Given the description of an element on the screen output the (x, y) to click on. 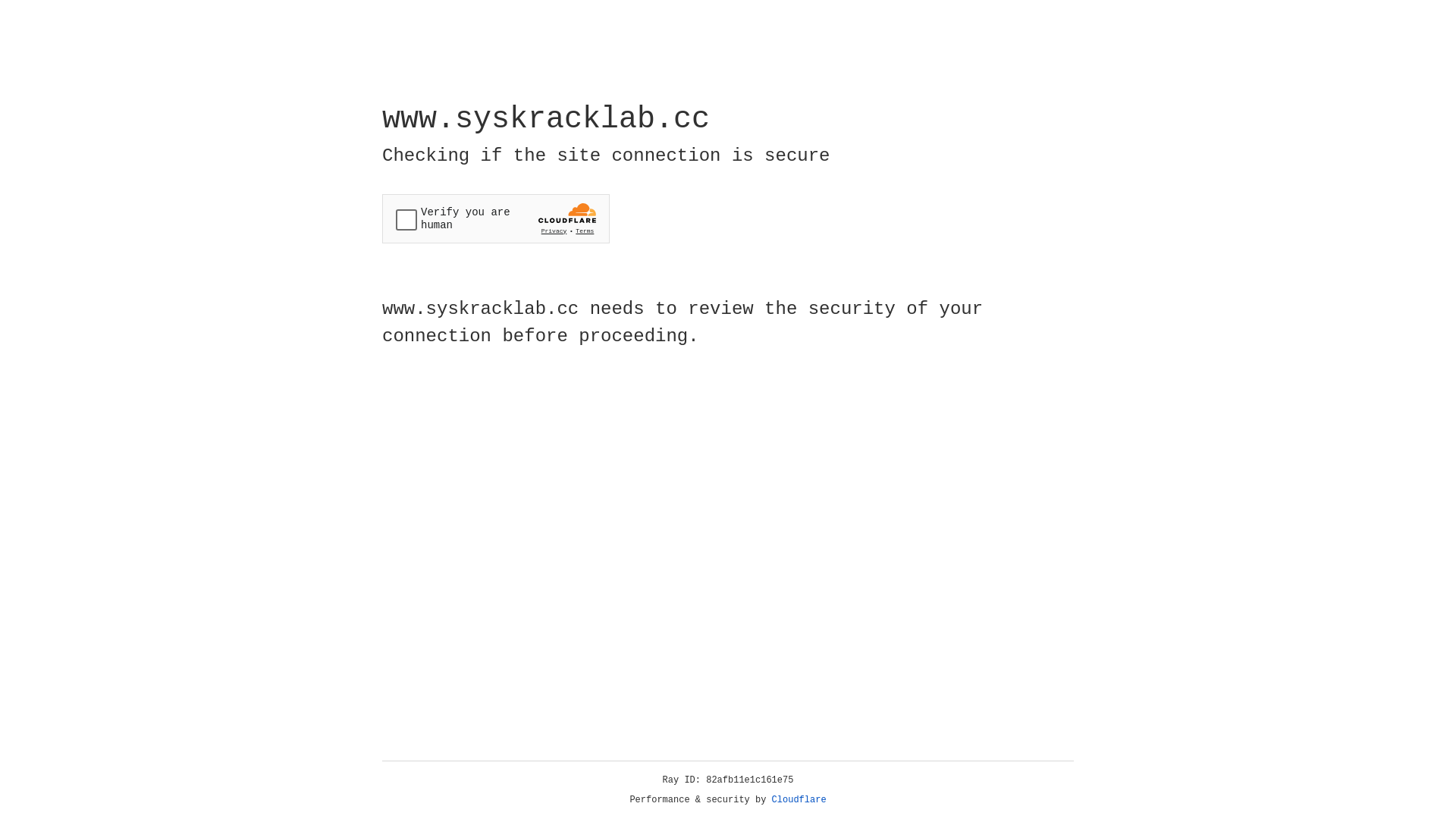
Widget containing a Cloudflare security challenge Element type: hover (495, 218)
Cloudflare Element type: text (798, 799)
